Given the description of an element on the screen output the (x, y) to click on. 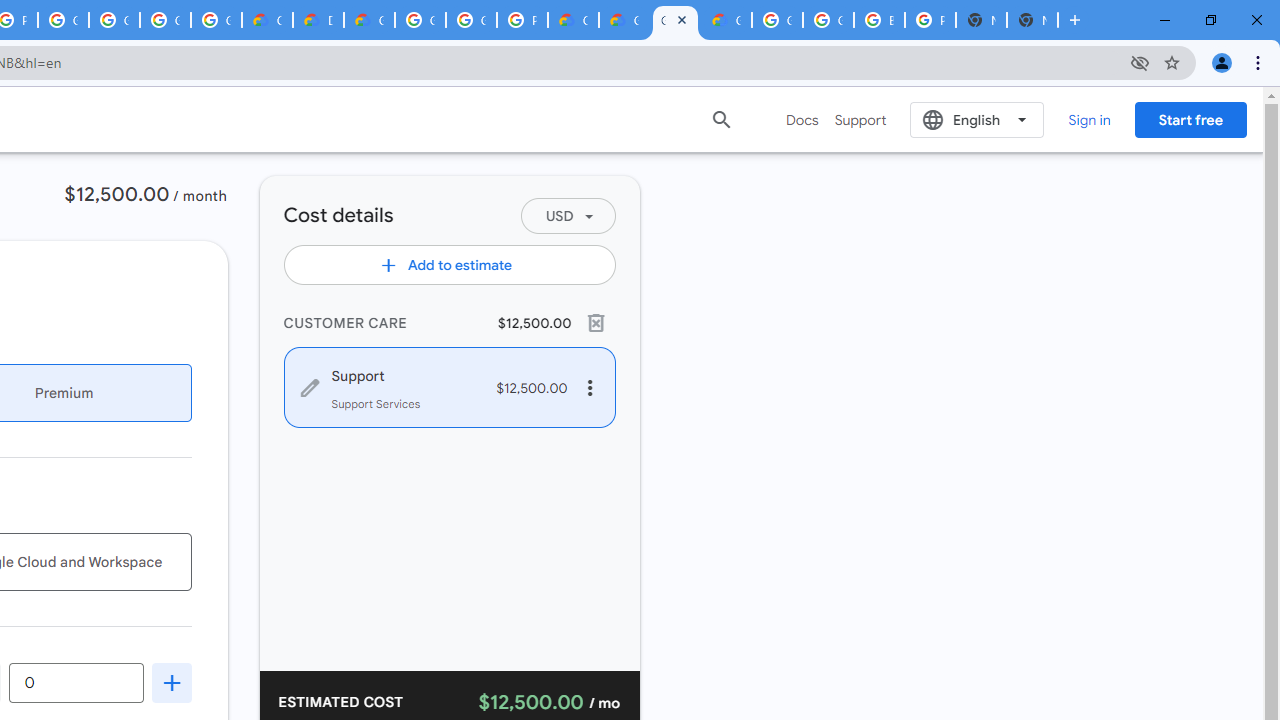
Google Cloud Platform (470, 20)
Delete group (594, 322)
Google Cloud Service Health (726, 20)
Customer Care | Google Cloud (573, 20)
More options (589, 387)
Customer Care | Google Cloud (267, 20)
Google Cloud Pricing Calculator (624, 20)
Google Cloud Pricing Calculator (675, 20)
Google Cloud Platform (420, 20)
Google Workspace - Specific Terms (215, 20)
